Given the description of an element on the screen output the (x, y) to click on. 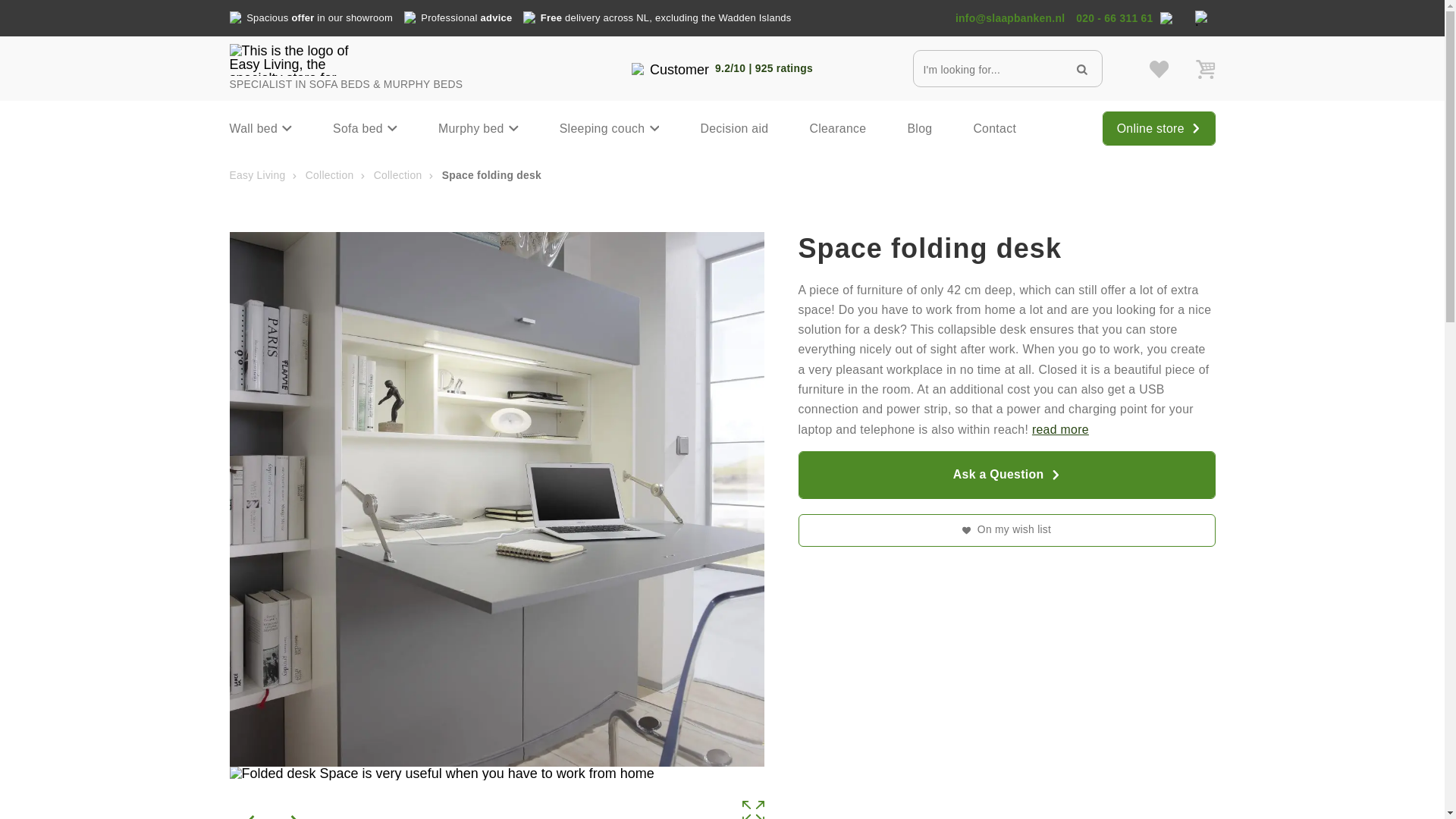
Murphy bed (477, 128)
Sofa beds WhatsApp Icon (1166, 18)
Customer experience Easy Living (672, 69)
Icon Advice (410, 17)
Wall bed (261, 128)
Icon Offer (234, 17)
Icon Delivery White X2 (528, 17)
